Given the description of an element on the screen output the (x, y) to click on. 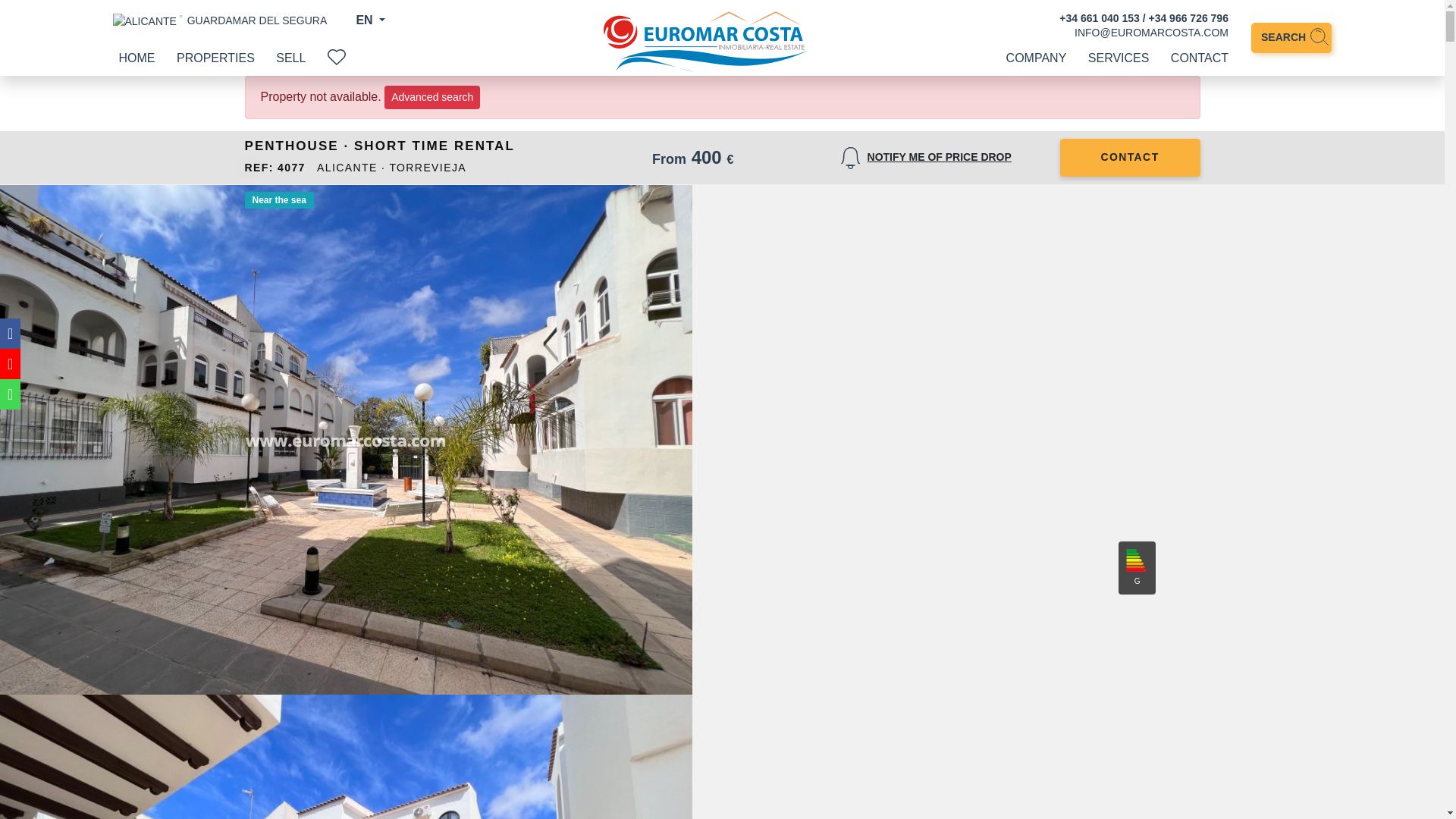
Euromar Costa Inmobiliaria (706, 41)
Short time rental - Penthouse - Torrevieja - TORREVIEJA (346, 756)
SERVICES (1118, 57)
SELL (290, 57)
COMPANY (1036, 57)
EN (370, 19)
HOME (135, 57)
CONTACT (1199, 57)
PROPERTIES (215, 57)
SEARCH (1291, 37)
